Given the description of an element on the screen output the (x, y) to click on. 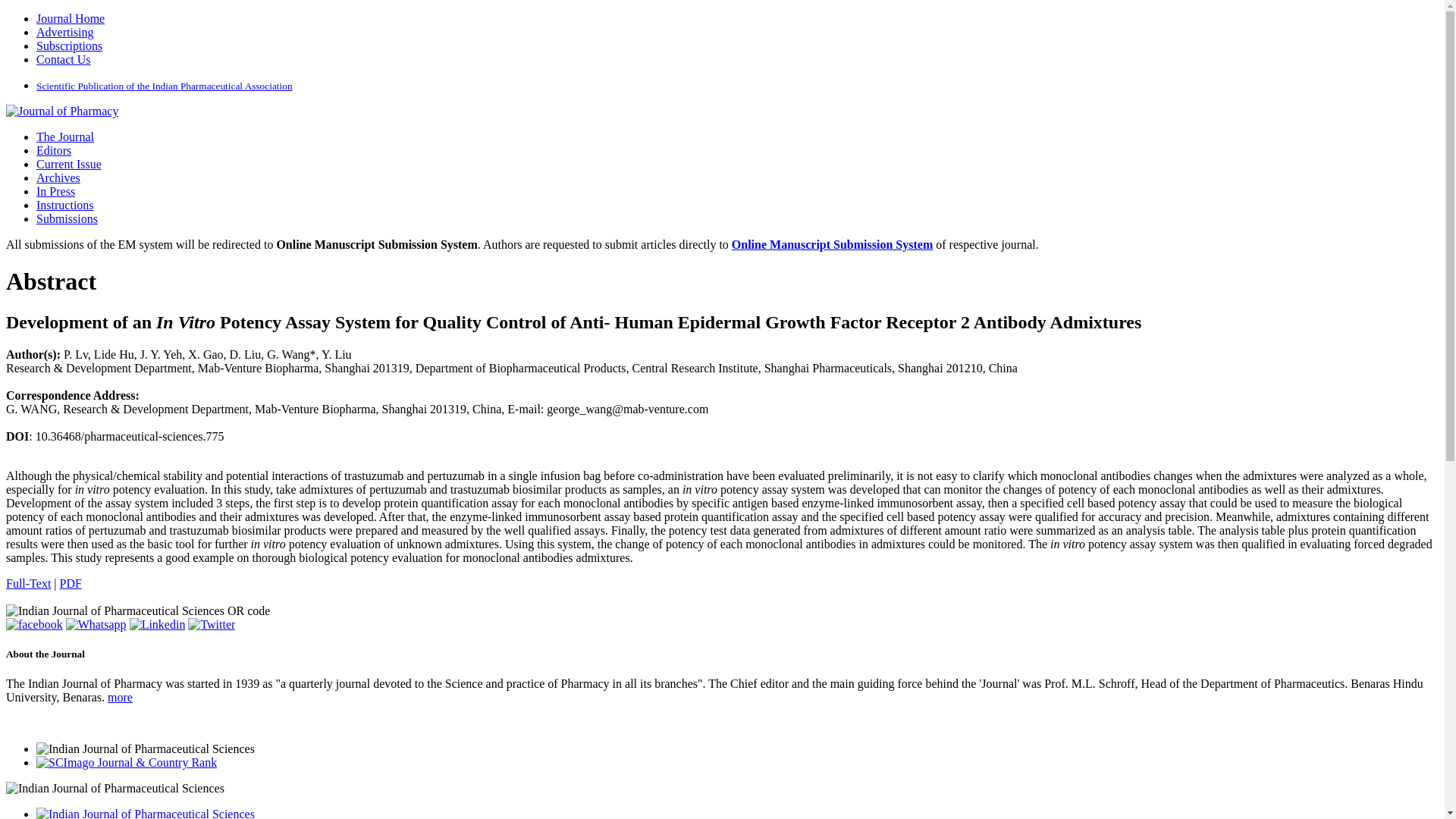
Advertising (65, 31)
Indian Journal of Pharmaceutical Sciences (61, 110)
Editors (53, 150)
Advertising (65, 31)
Editors (53, 150)
Inpress (55, 191)
PDF (70, 583)
Current Issue (68, 164)
Online Submission (66, 218)
Journal Home (70, 18)
In Press (55, 191)
The Journal (65, 136)
Archives (58, 177)
Contact Us (63, 59)
